Given the description of an element on the screen output the (x, y) to click on. 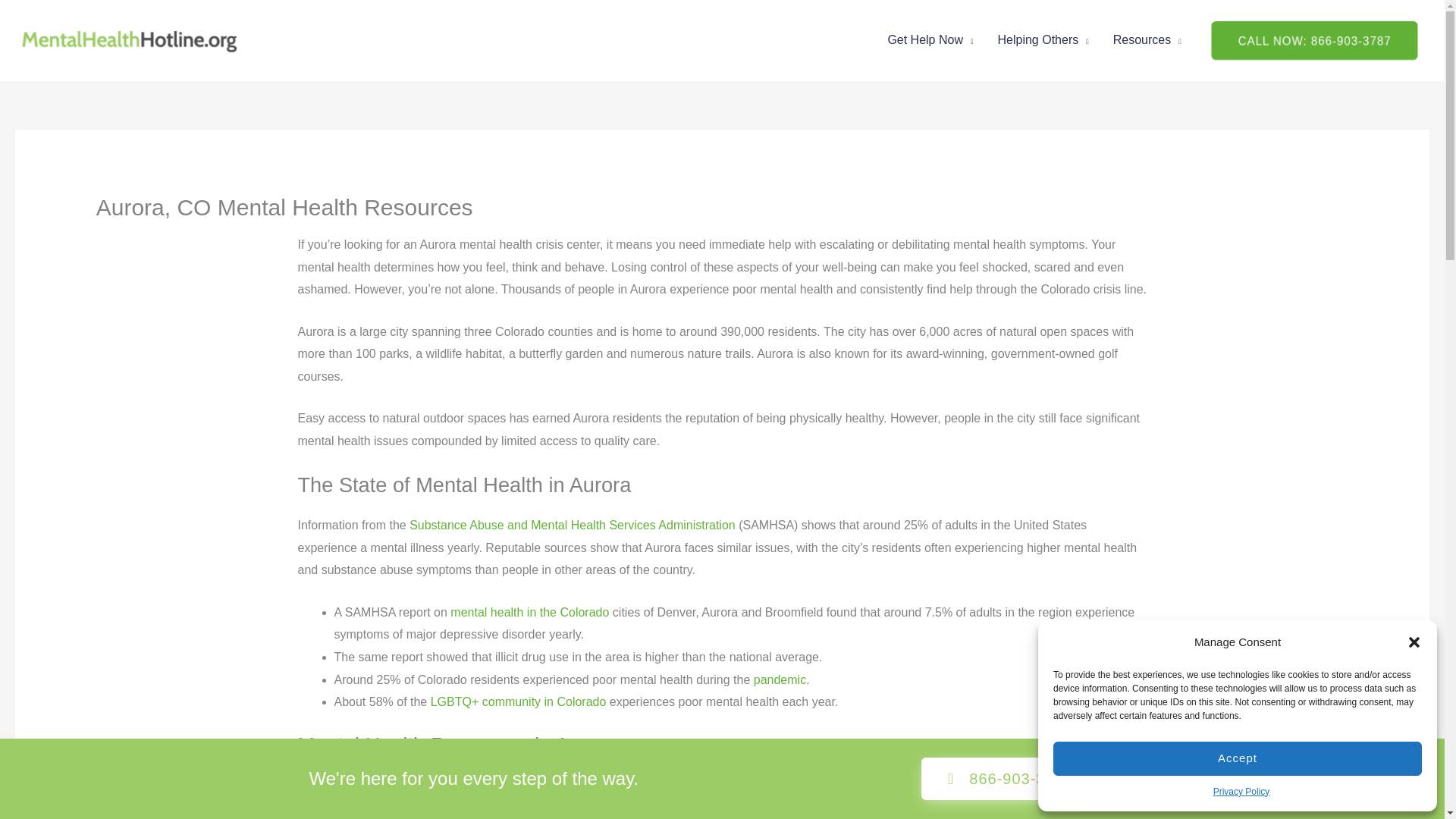
Privacy Policy (1240, 791)
Accept (1237, 758)
Get Help Now (930, 39)
Helping Others (1042, 39)
